Given the description of an element on the screen output the (x, y) to click on. 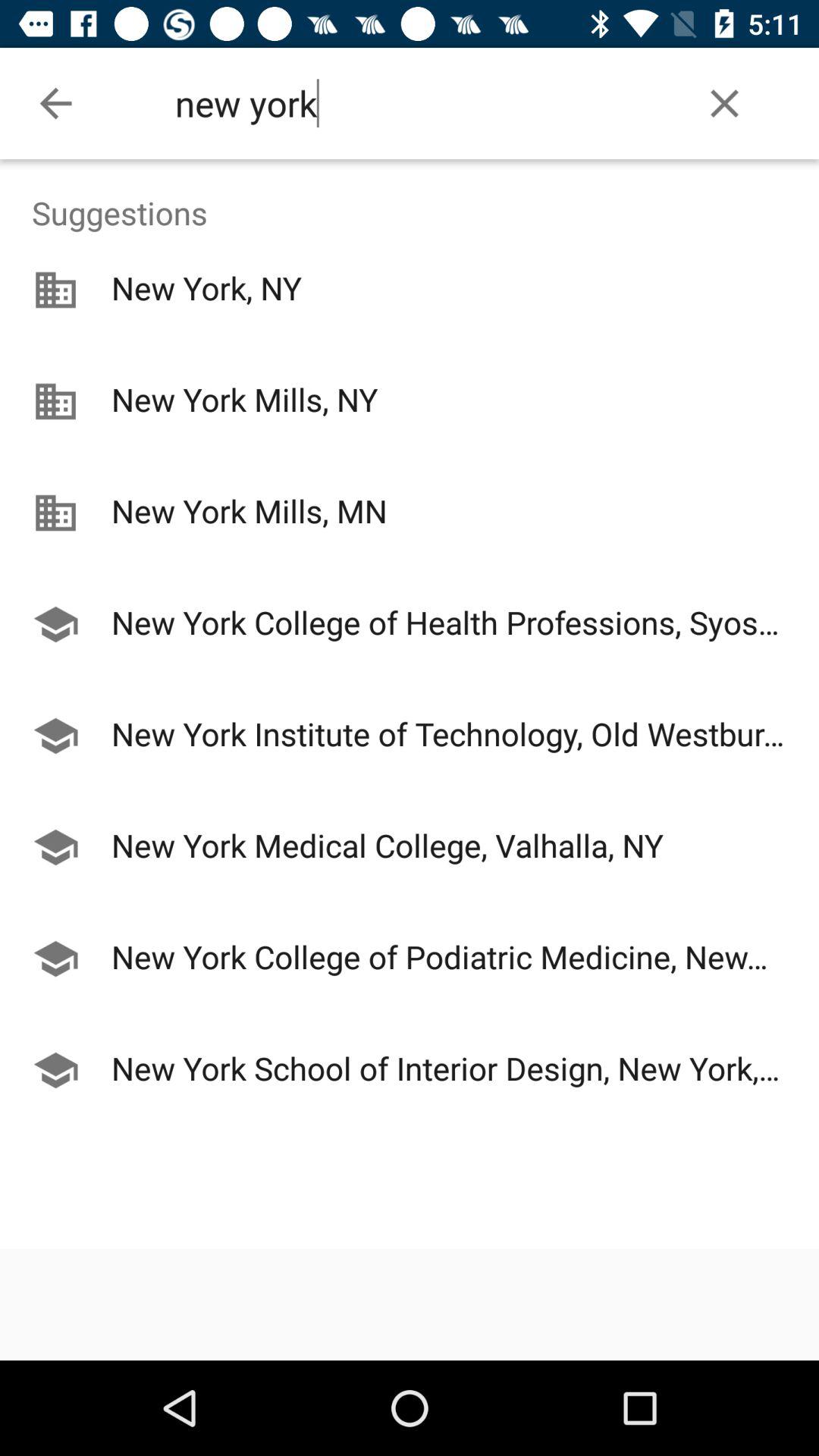
choose the item to the right of the new york (724, 103)
